Given the description of an element on the screen output the (x, y) to click on. 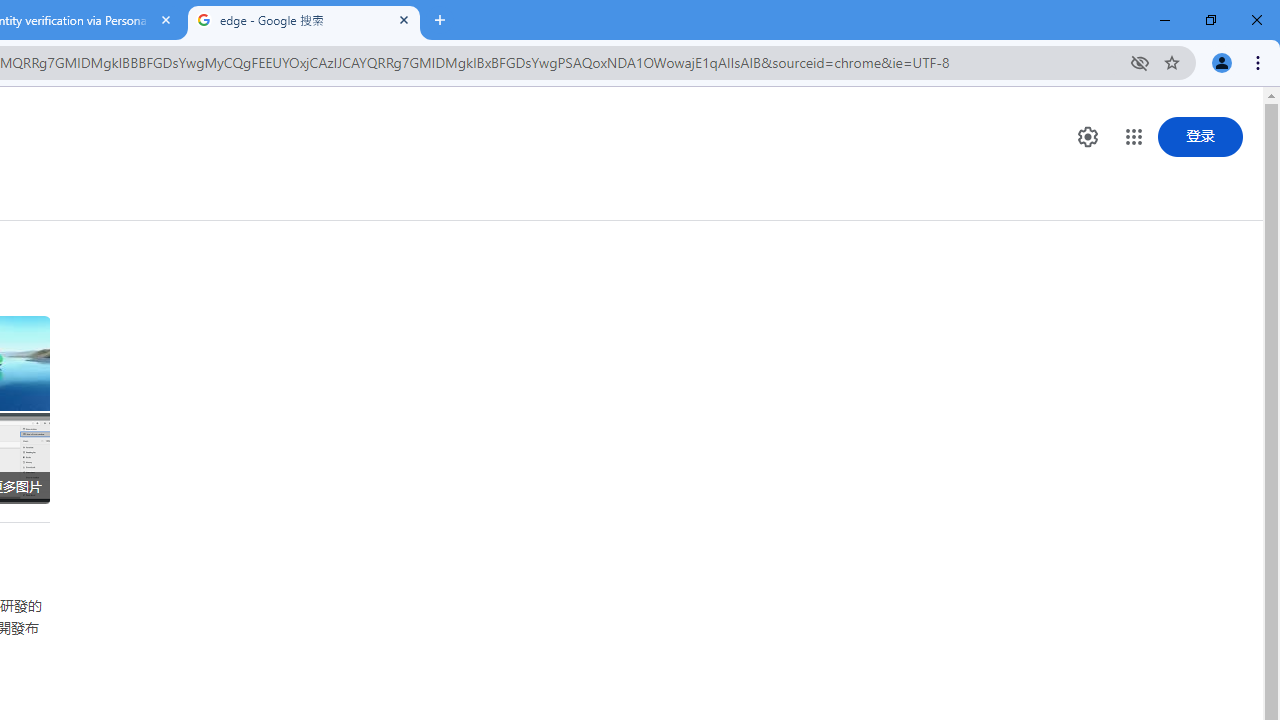
Third-party cookies blocked (1139, 62)
